Given the description of an element on the screen output the (x, y) to click on. 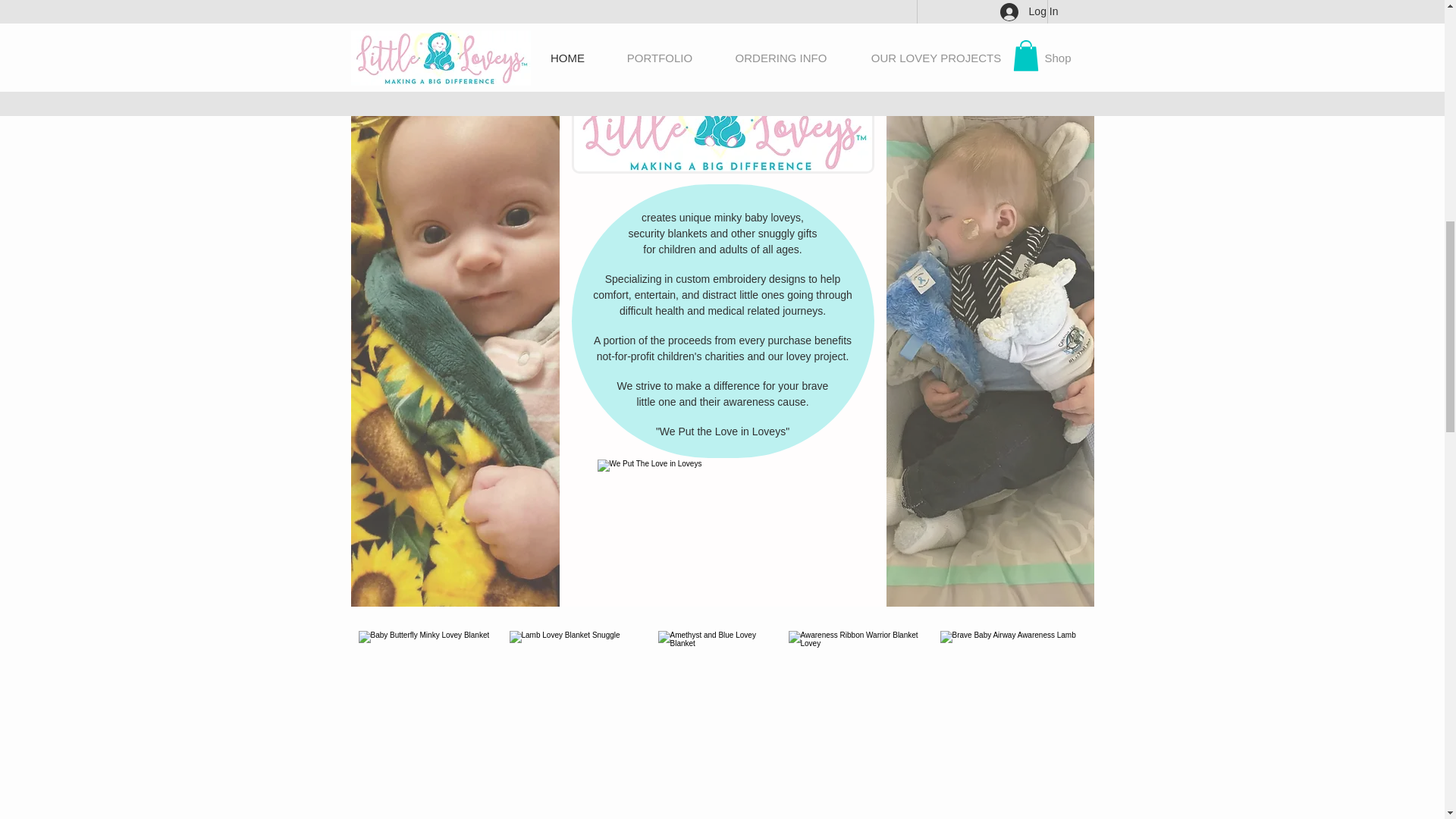
We Put The Love in Lovey (722, 503)
Subscribe Now (721, 187)
FAQ's (721, 6)
